Given the description of an element on the screen output the (x, y) to click on. 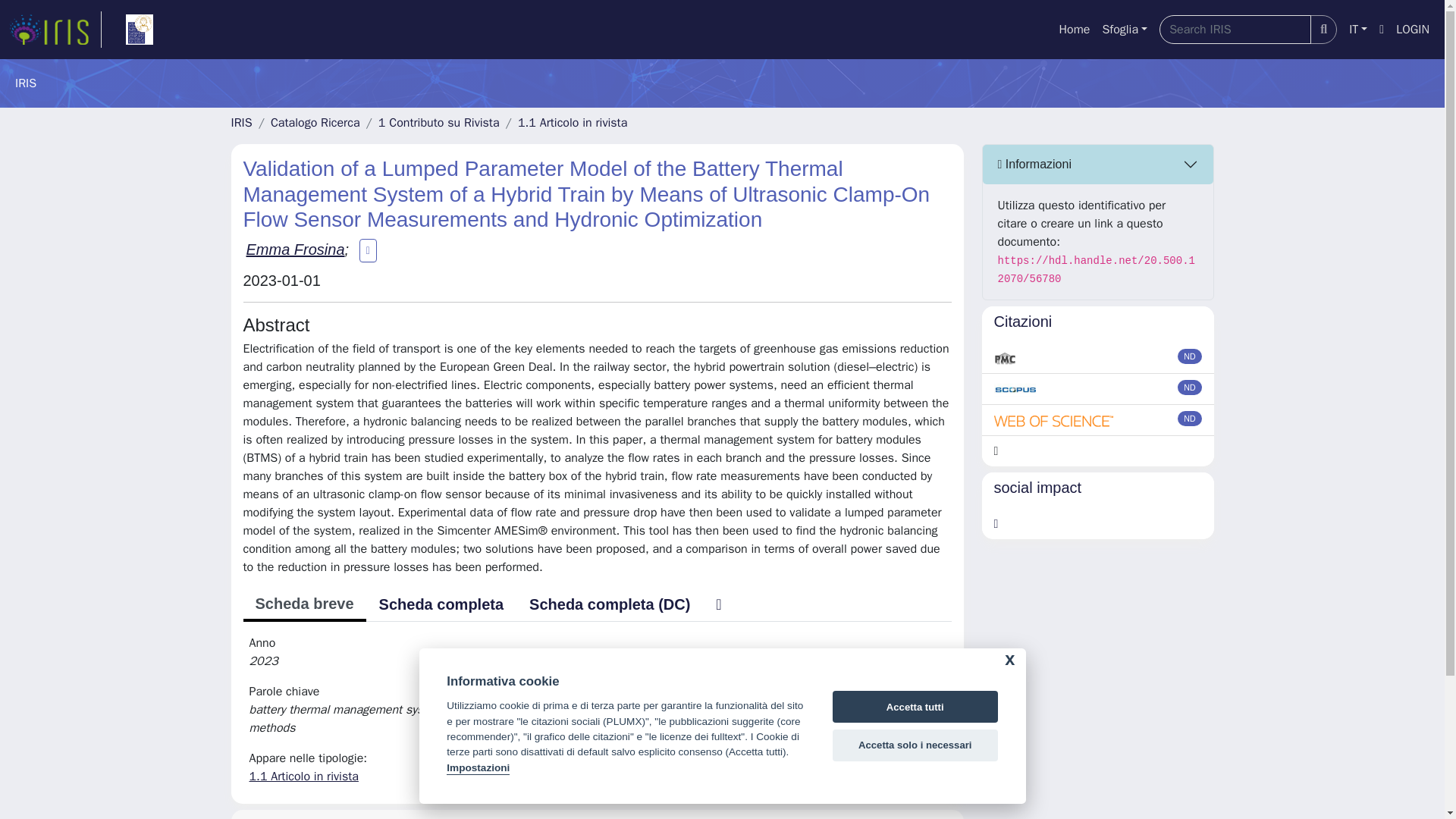
Scheda breve (304, 604)
Scheda completa (441, 603)
IT (1357, 29)
Emma Frosina (294, 248)
1.1 Articolo in rivista (303, 776)
IRIS (240, 122)
LOGIN (1412, 29)
1.1 Articolo in rivista (572, 122)
Home (1074, 29)
1 Contributo su Rivista (438, 122)
 Informazioni (1097, 164)
Sfoglia (1124, 29)
Aiuto (1381, 29)
Catalogo Ricerca (314, 122)
